Given the description of an element on the screen output the (x, y) to click on. 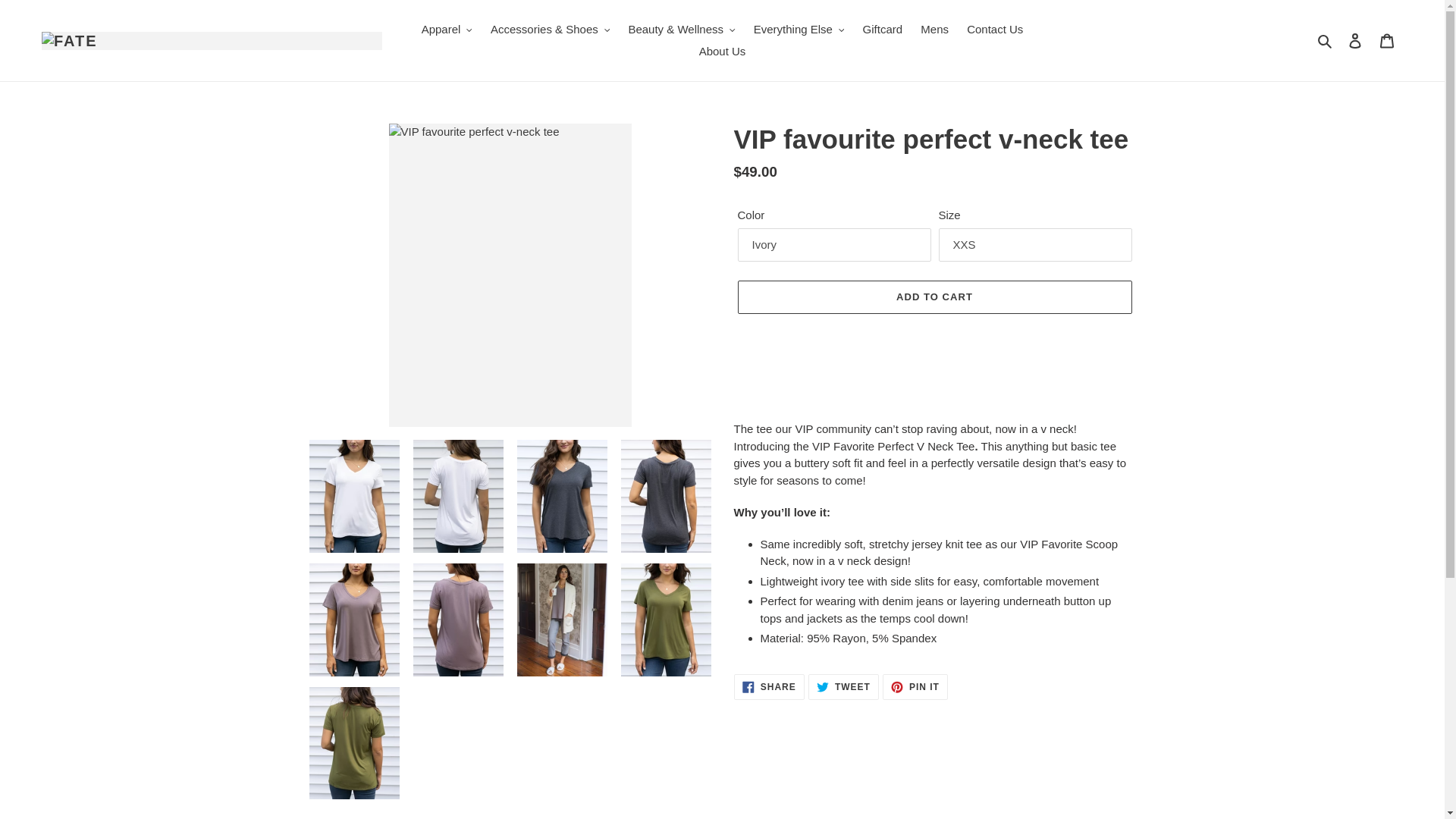
Mens (934, 29)
Search (1326, 40)
About Us (722, 51)
Log in (1355, 40)
Cart (1387, 40)
Apparel (446, 29)
Everything Else (798, 29)
Contact Us (994, 29)
Giftcard (883, 29)
